Given the description of an element on the screen output the (x, y) to click on. 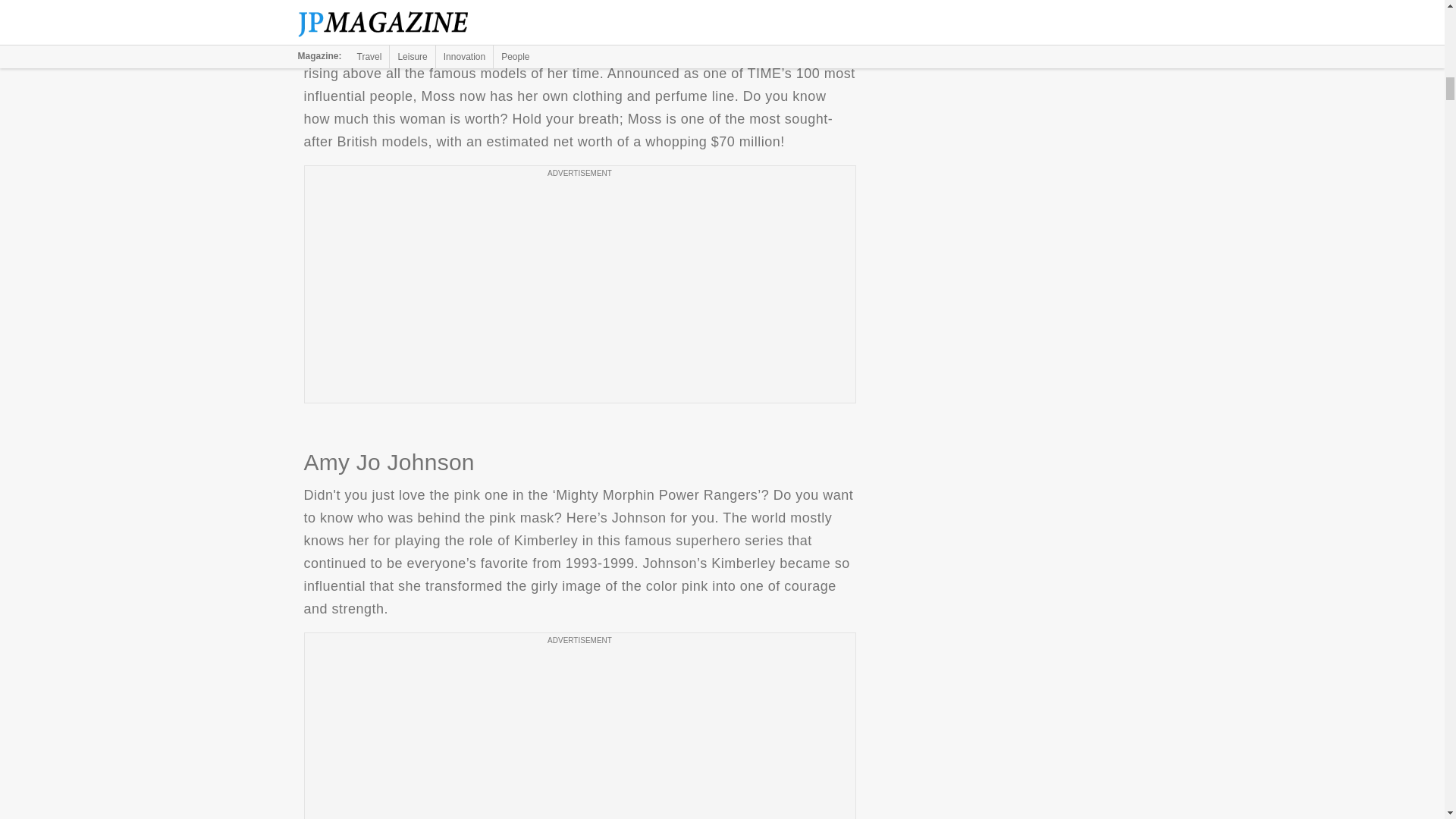
Kate Moss (579, 6)
